Given the description of an element on the screen output the (x, y) to click on. 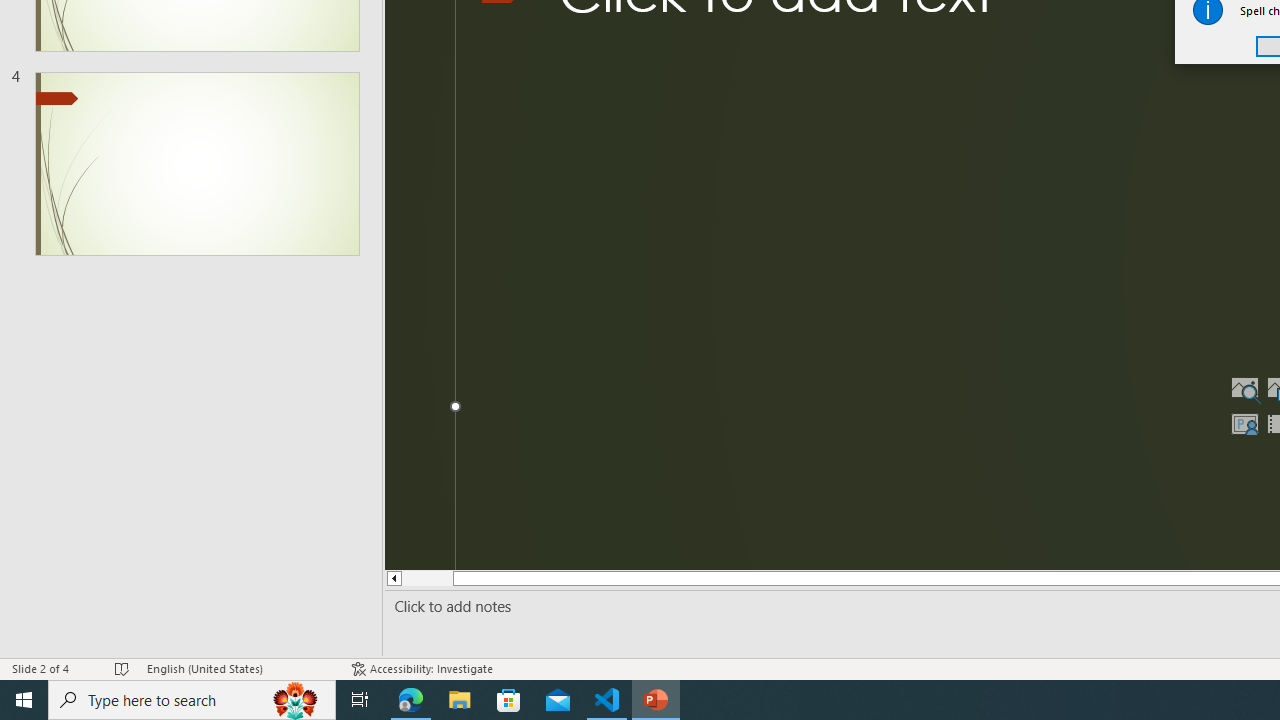
Stock Images (1244, 387)
Insert Cameo (1244, 423)
